Given the description of an element on the screen output the (x, y) to click on. 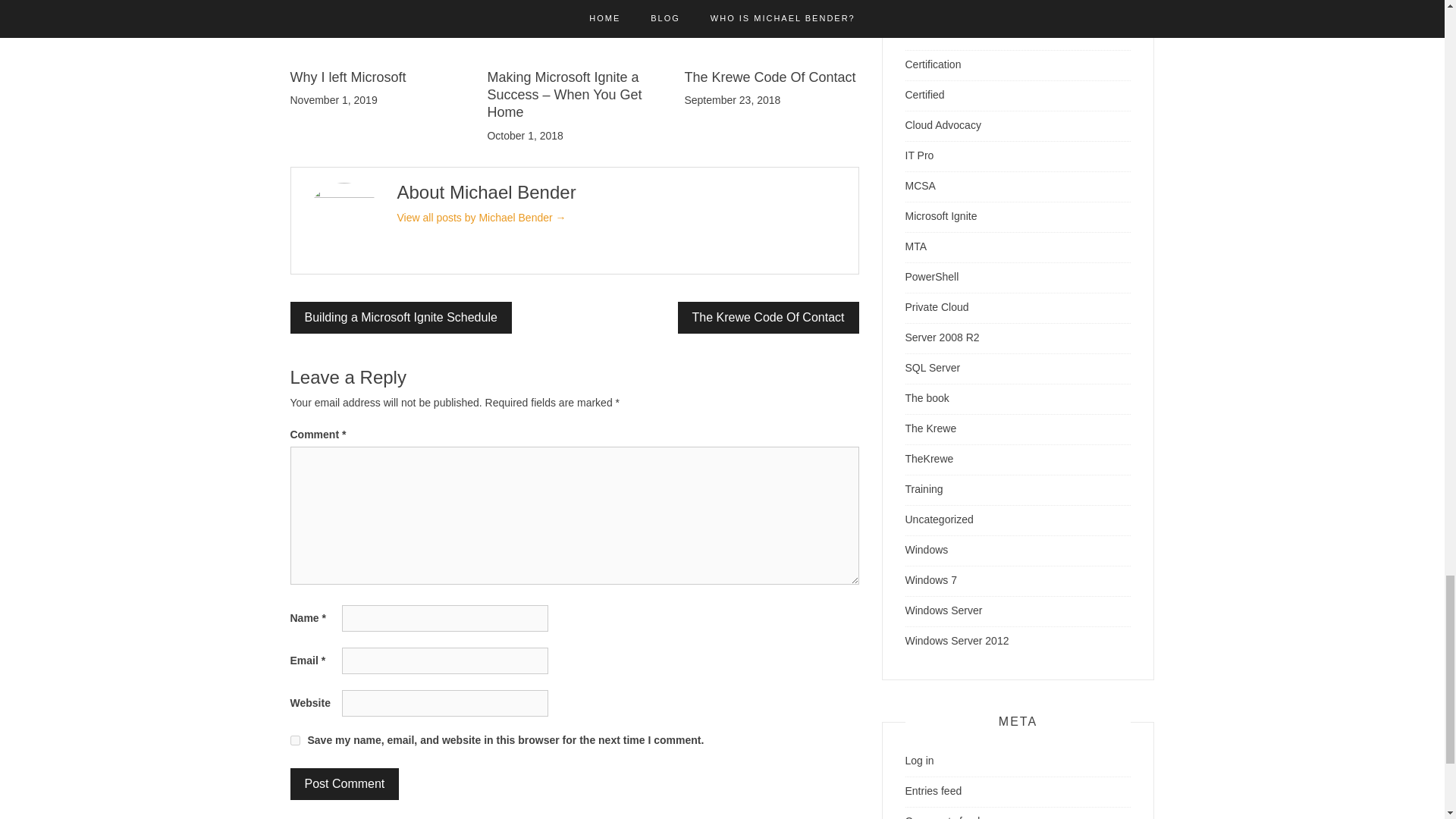
The Krewe Code Of Contact (770, 77)
Why I left Microsoft (347, 77)
Post Comment (343, 784)
The Krewe Code Of Contact (768, 317)
Building a Microsoft Ignite Schedule (400, 317)
yes (294, 740)
Post Comment (343, 784)
